Given the description of an element on the screen output the (x, y) to click on. 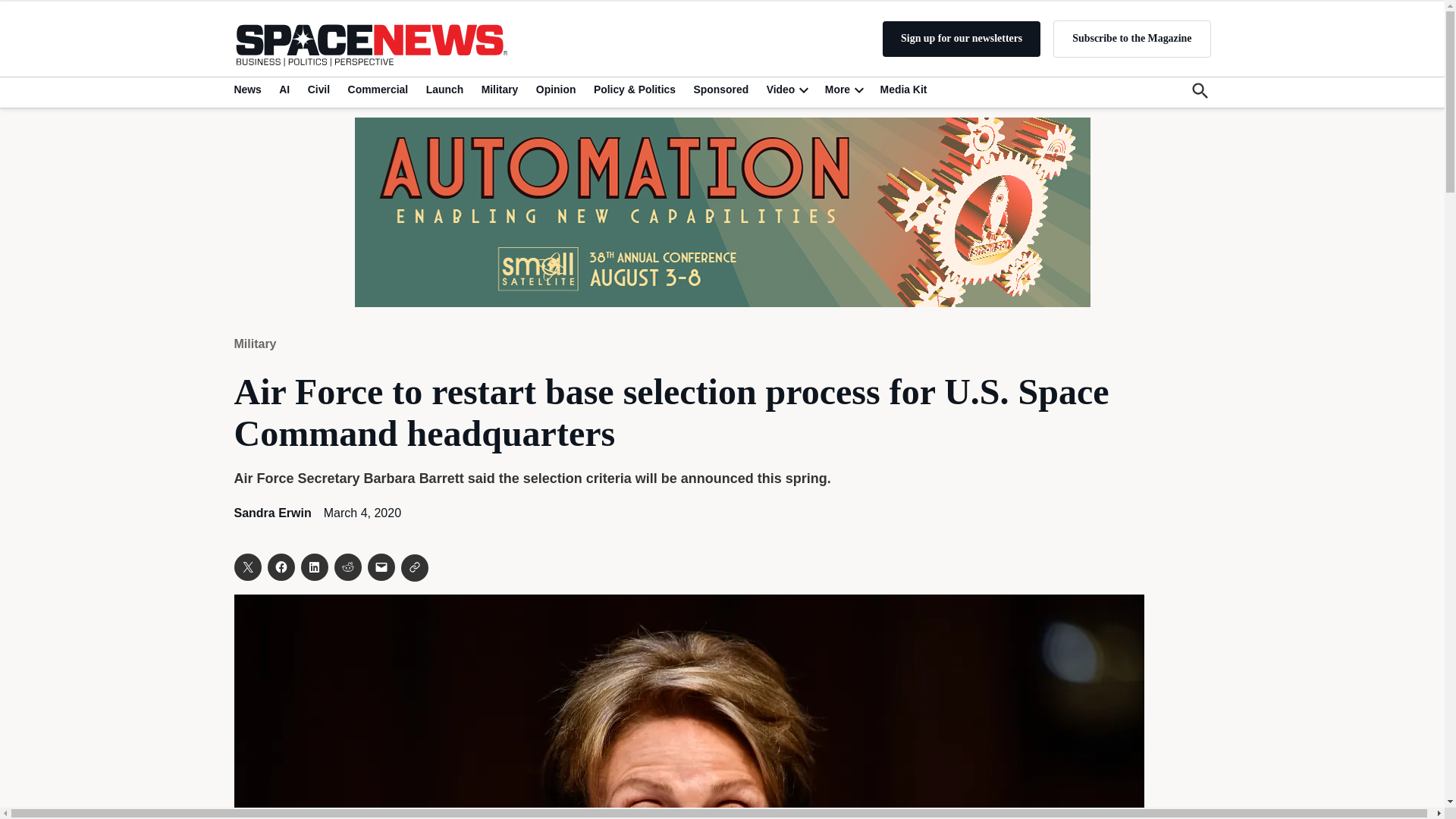
Click to share on LinkedIn (313, 566)
Click to share on Reddit (347, 566)
Click to share on X (246, 566)
Subscribe to the Magazine (1130, 38)
Sign up for our newsletters (961, 38)
Click to share on Facebook (280, 566)
Civil (318, 89)
Click to share on Clipboard (414, 567)
Click to email a link to a friend (380, 566)
AI (284, 89)
News (249, 89)
